Given the description of an element on the screen output the (x, y) to click on. 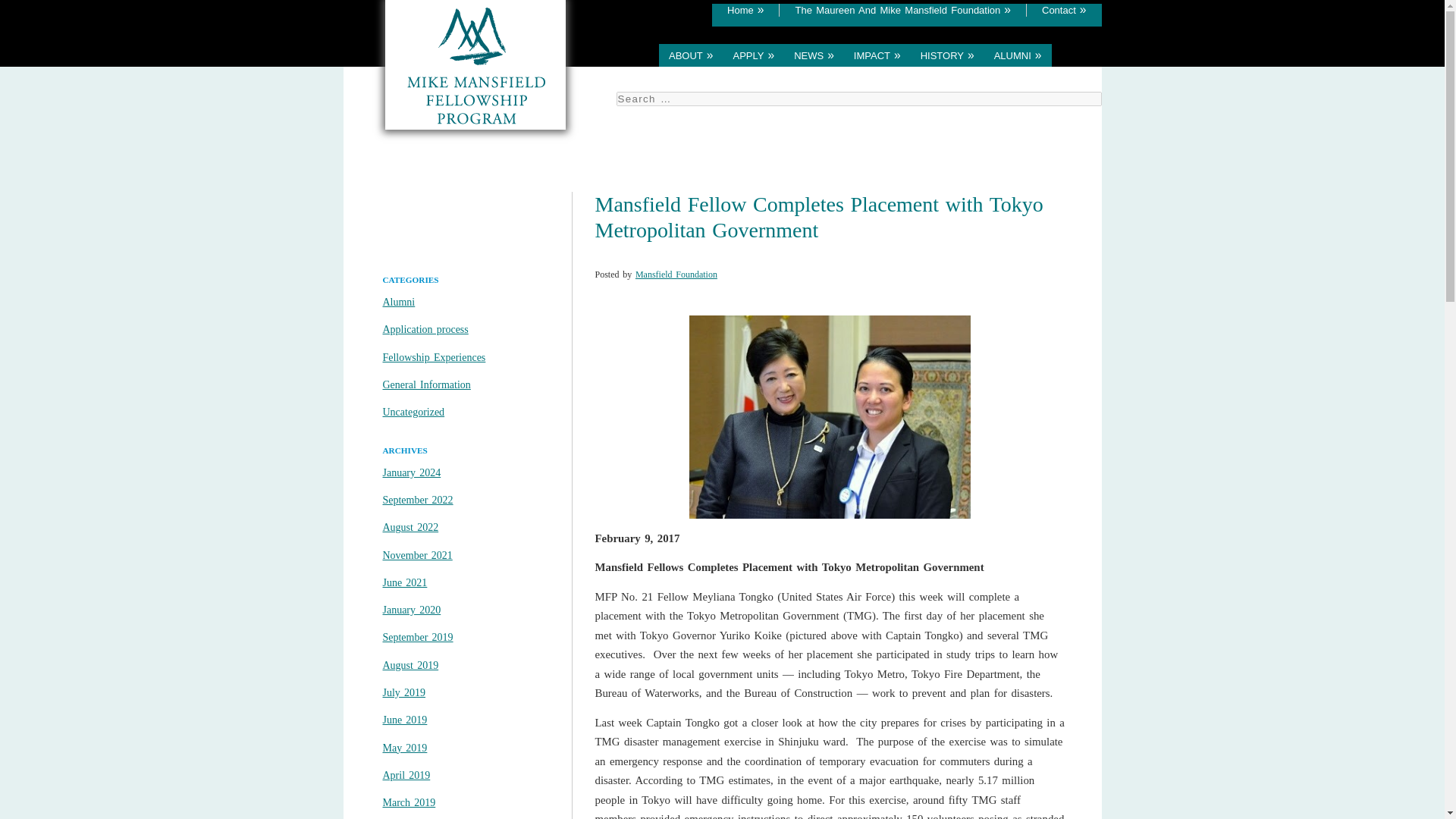
ABOUT (690, 55)
NEWS (814, 55)
Search for: (857, 98)
Home (744, 10)
Contact (1064, 10)
HISTORY (947, 55)
View all posts by Mansfield Foundation (675, 274)
IMPACT (877, 55)
The Maureen And Mike Mansfield Foundation (902, 10)
ALUMNI (1017, 55)
APPLY (753, 55)
